Given the description of an element on the screen output the (x, y) to click on. 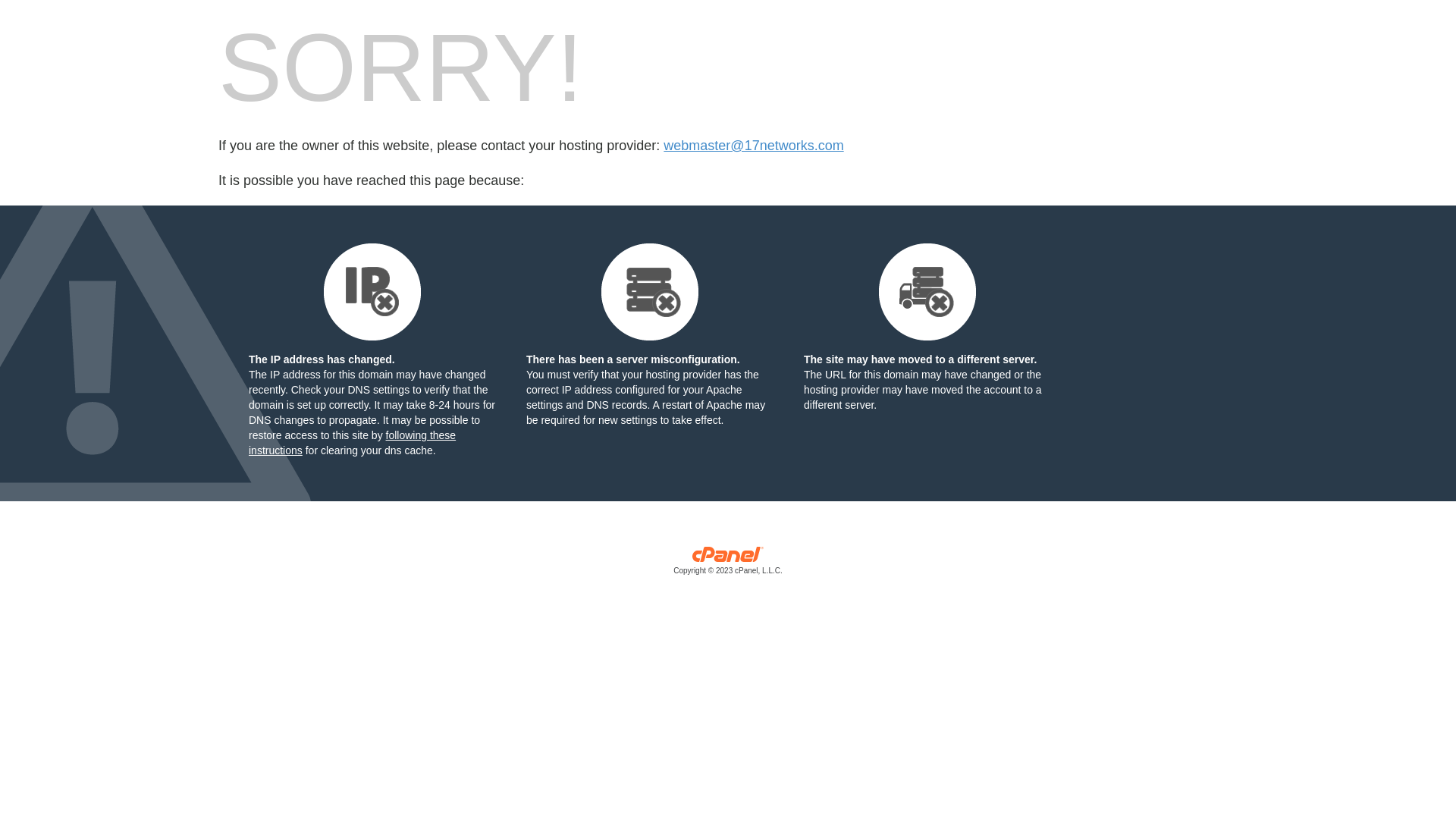
webmaster@17networks.com Element type: text (753, 145)
following these instructions Element type: text (351, 442)
